Given the description of an element on the screen output the (x, y) to click on. 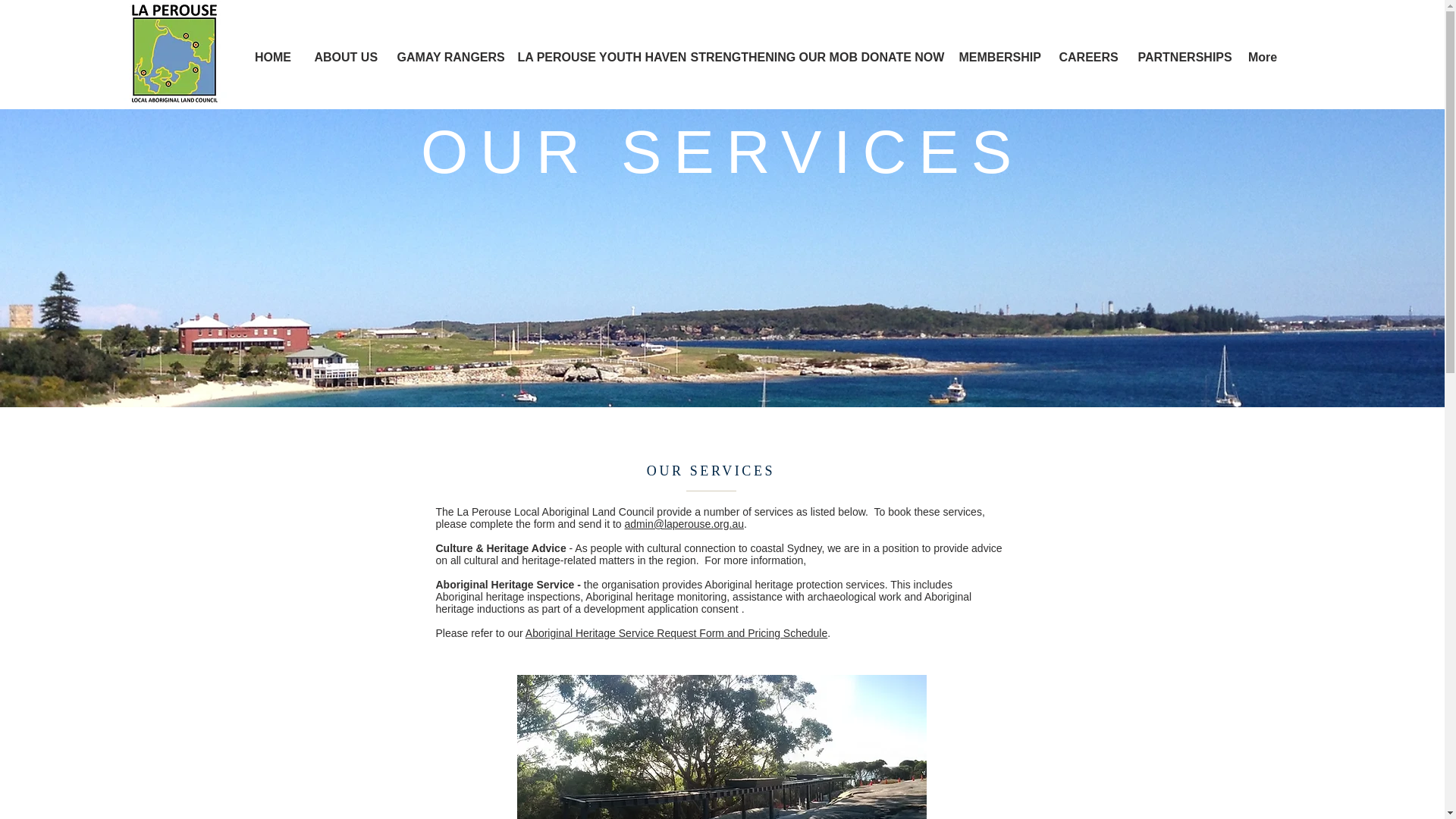
GAMAY RANGERS (445, 57)
ABOUT US (343, 57)
PARTNERSHIPS (1181, 57)
MEMBERSHIP (997, 57)
STRENGTHENING OUR MOB (764, 57)
DONATE NOW (897, 57)
CAREERS (1087, 57)
LA PEROUSE YOUTH HAVEN (592, 57)
HOME (272, 57)
